Given the description of an element on the screen output the (x, y) to click on. 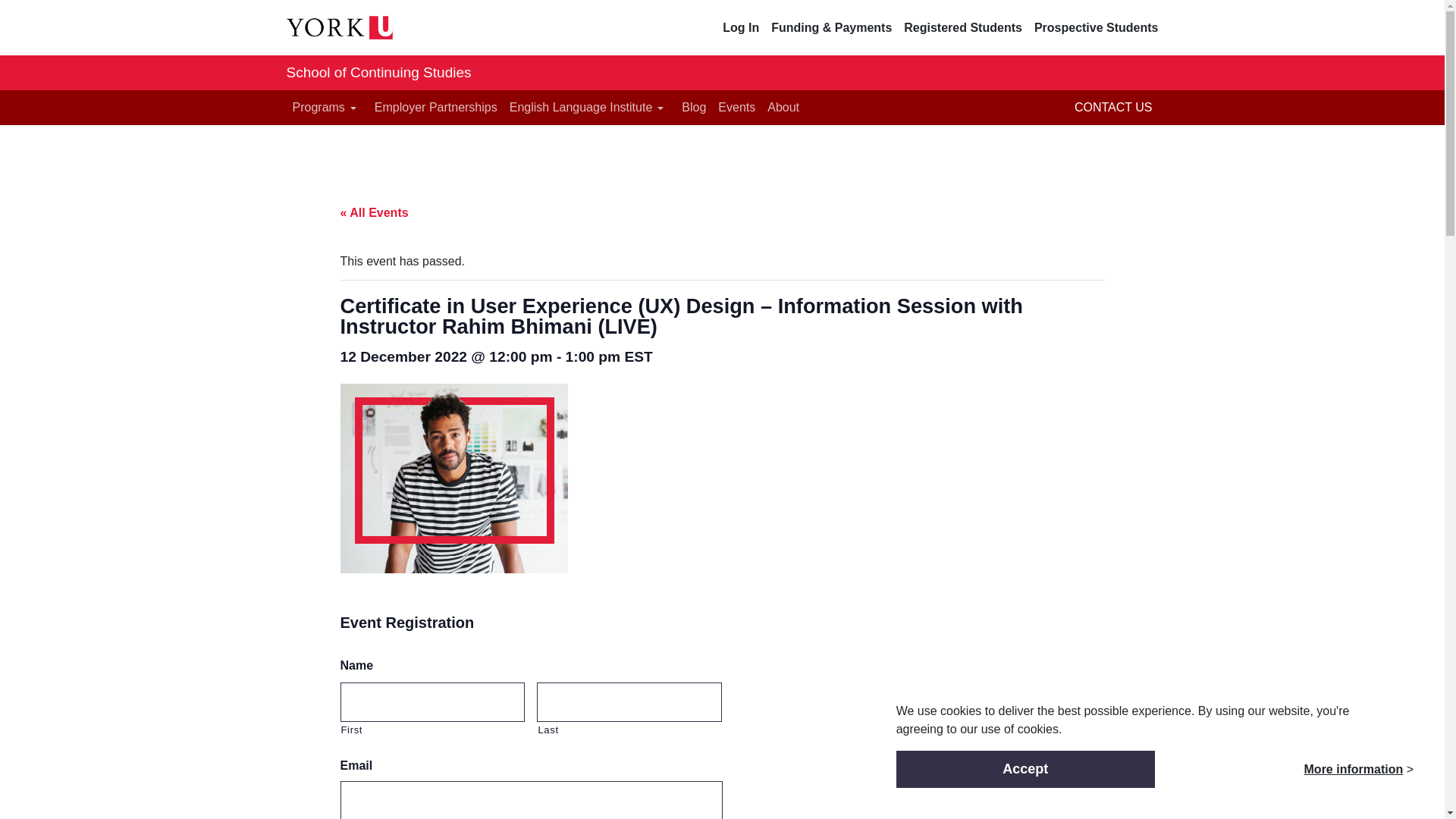
Programs (327, 107)
More information (1353, 768)
School of Continuing Studies (378, 72)
Prospective Students (1095, 27)
Employer Partnerships (435, 107)
Registered Students (963, 27)
English Language Institute (590, 107)
Log In (740, 27)
School of Continuing Studies (378, 72)
Accept (1025, 769)
